Given the description of an element on the screen output the (x, y) to click on. 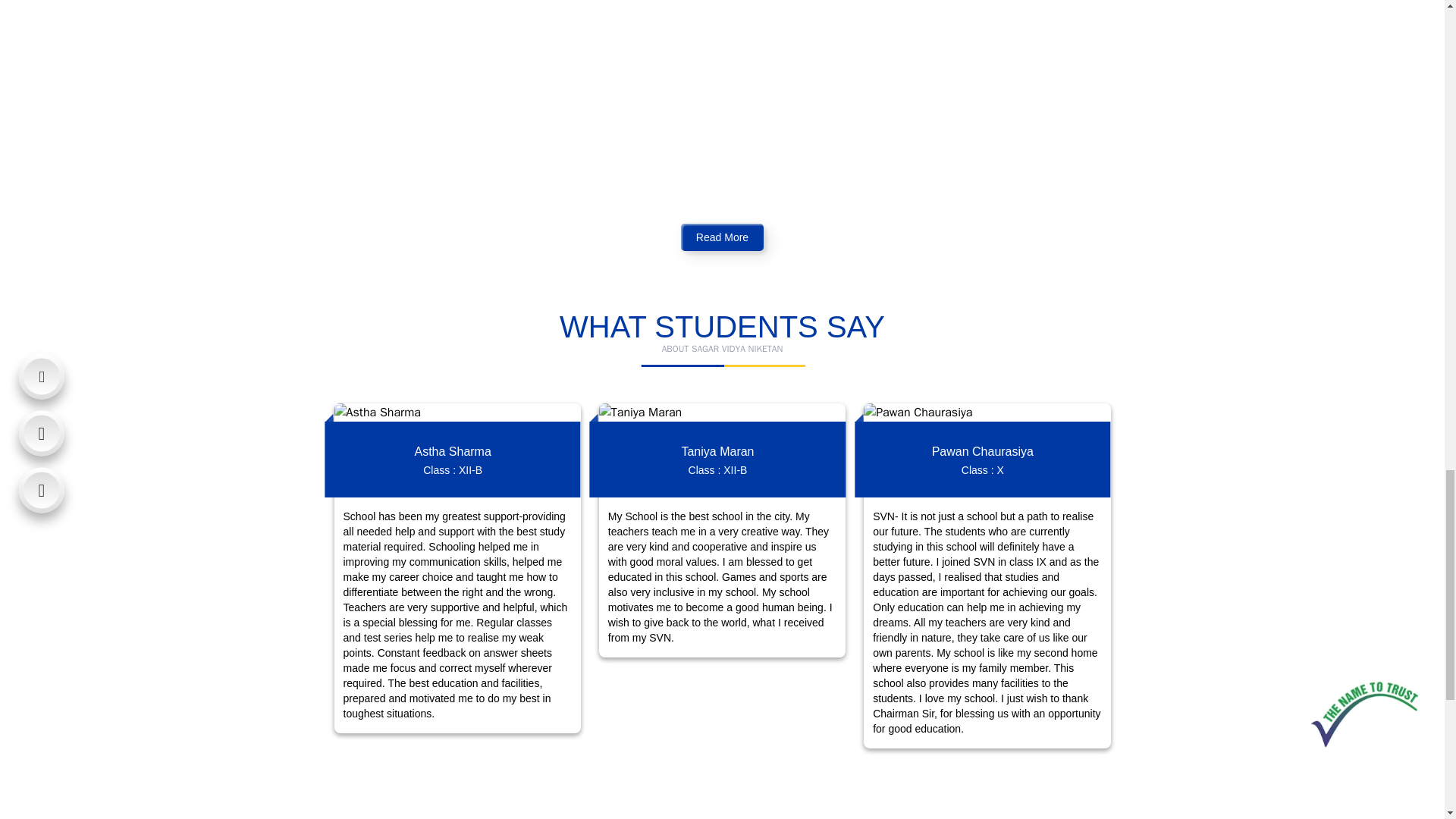
Pawan Chaurasiya (986, 412)
Taniya Maran (721, 412)
Astha Sharma (456, 412)
